Given the description of an element on the screen output the (x, y) to click on. 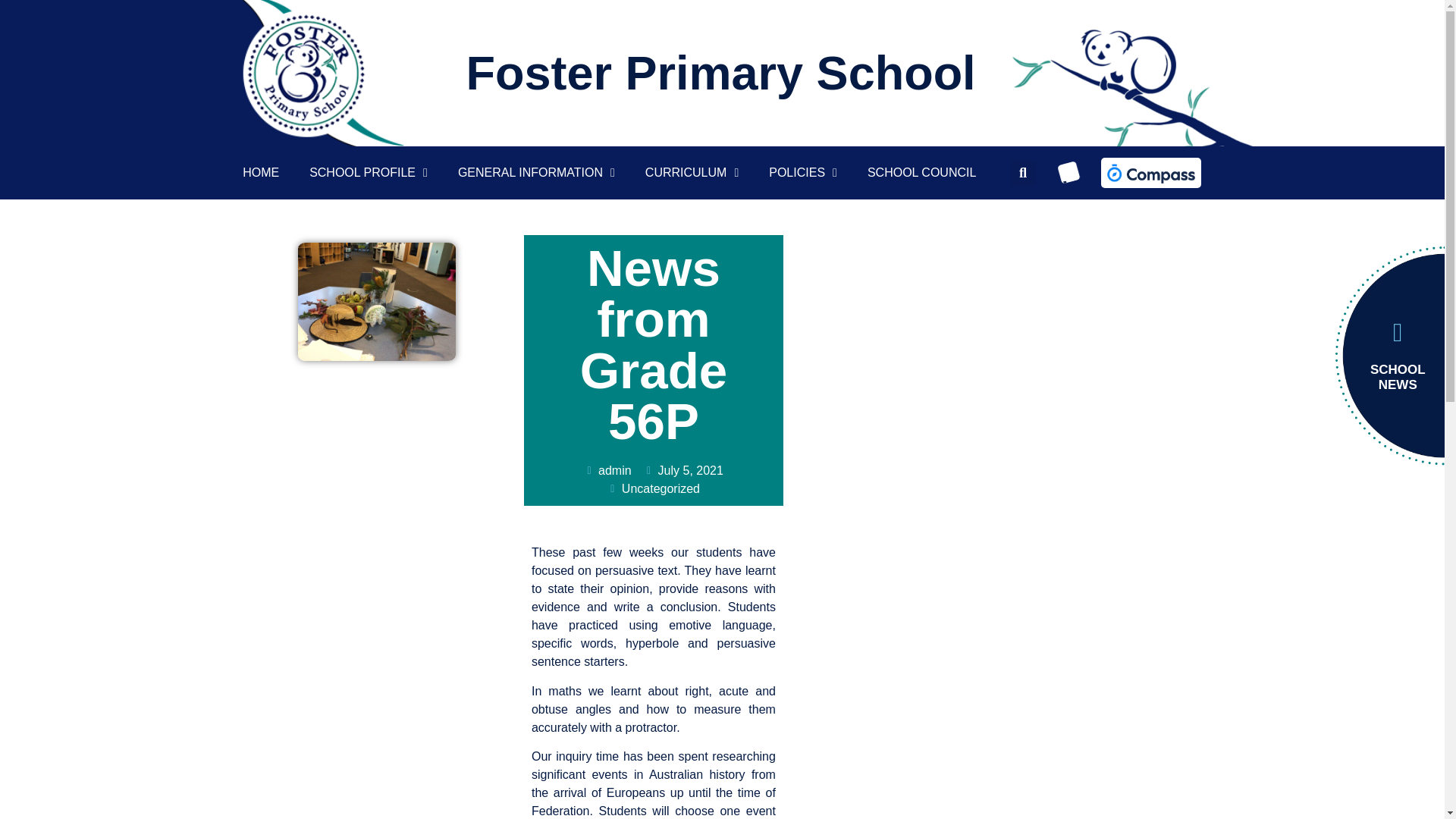
Foster Primary School (720, 72)
CURRICULUM (691, 163)
SCHOOL PROFILE (368, 127)
GENERAL INFORMATION (536, 136)
POLICIES (802, 170)
SCHOOL COUNCIL (921, 172)
